Given the description of an element on the screen output the (x, y) to click on. 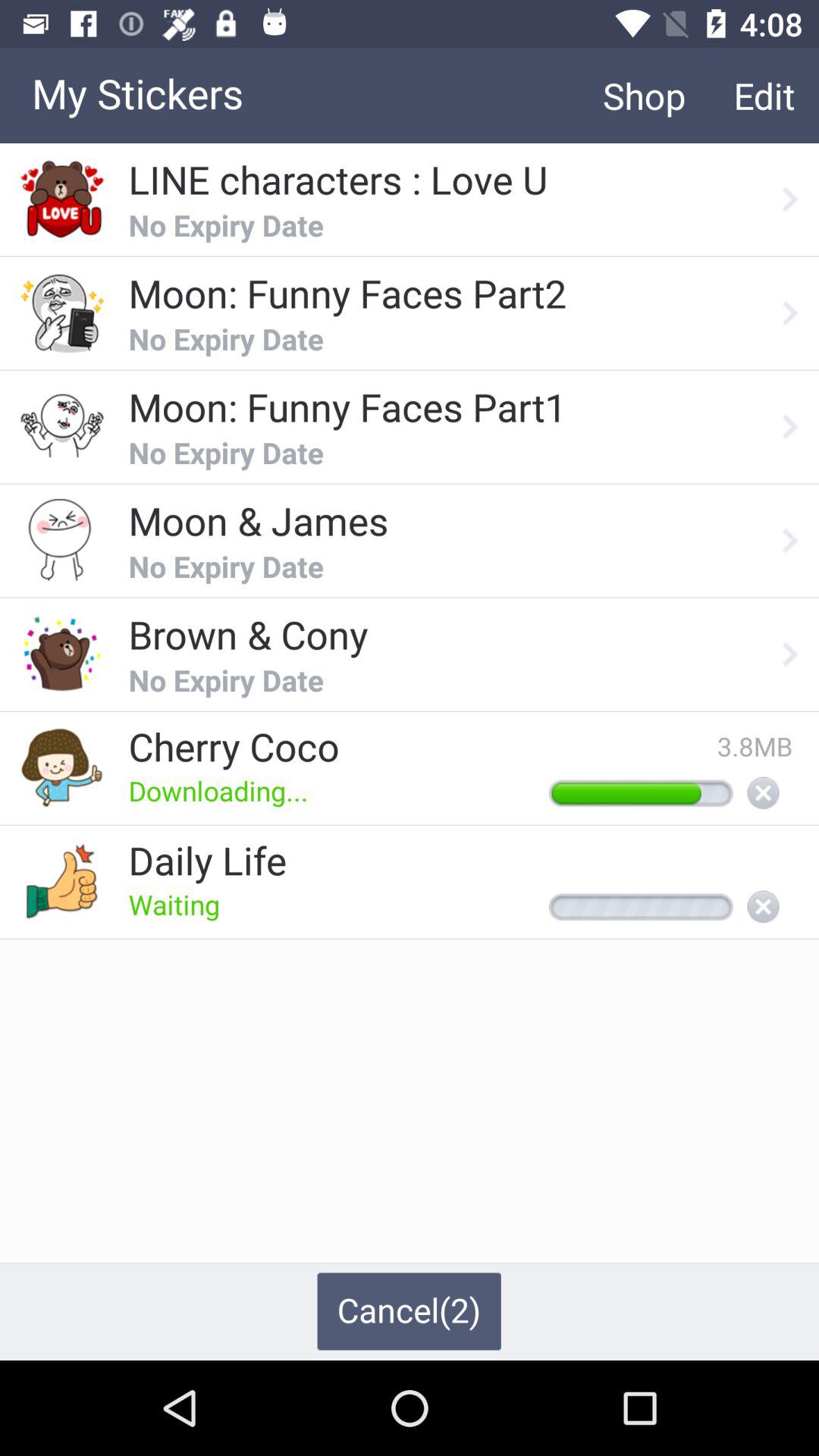
swipe to cancel(2) item (409, 1311)
